Given the description of an element on the screen output the (x, y) to click on. 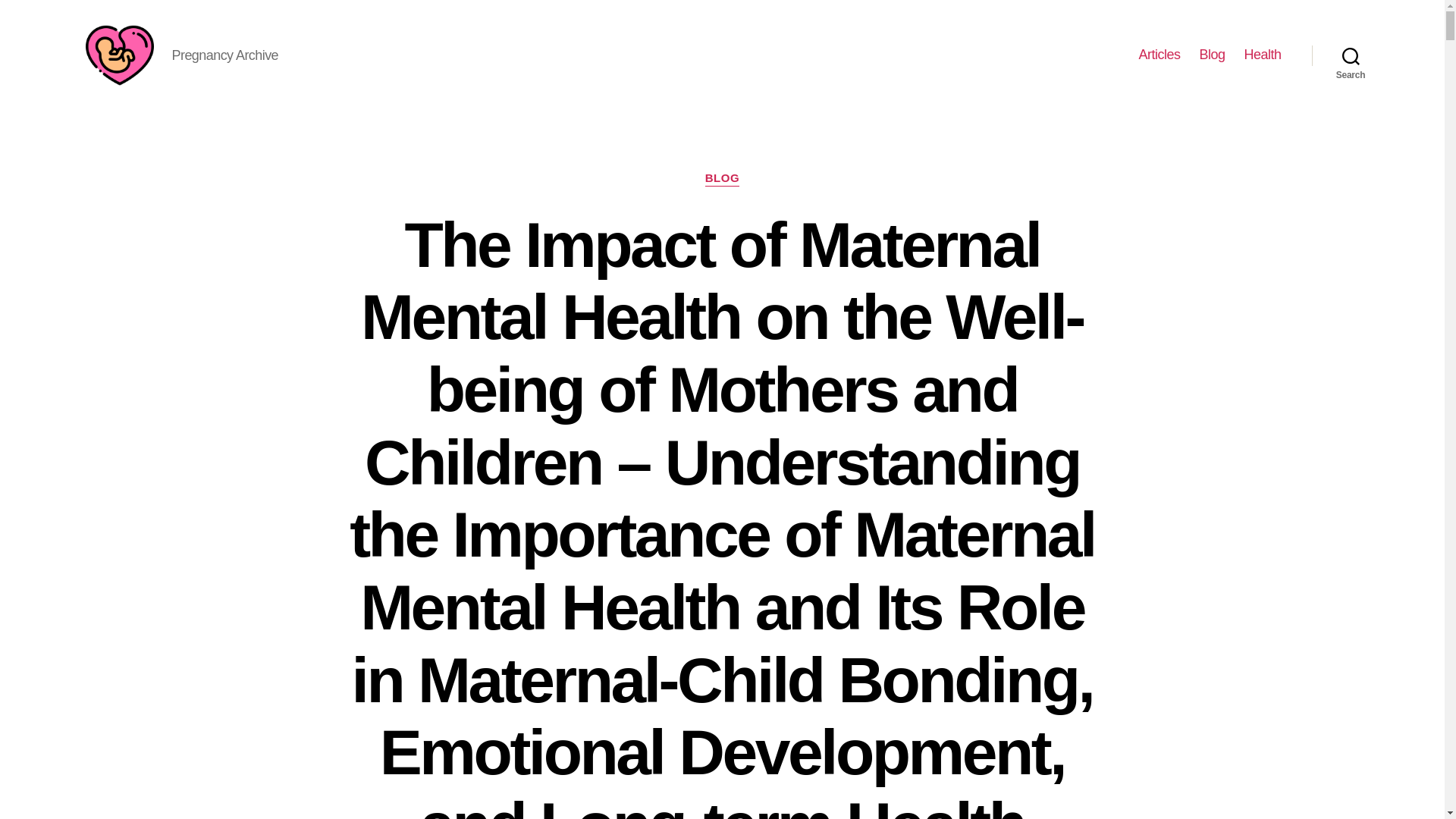
Articles (1158, 54)
Health (1262, 54)
Blog (1211, 54)
Search (1350, 55)
BLOG (721, 178)
